Given the description of an element on the screen output the (x, y) to click on. 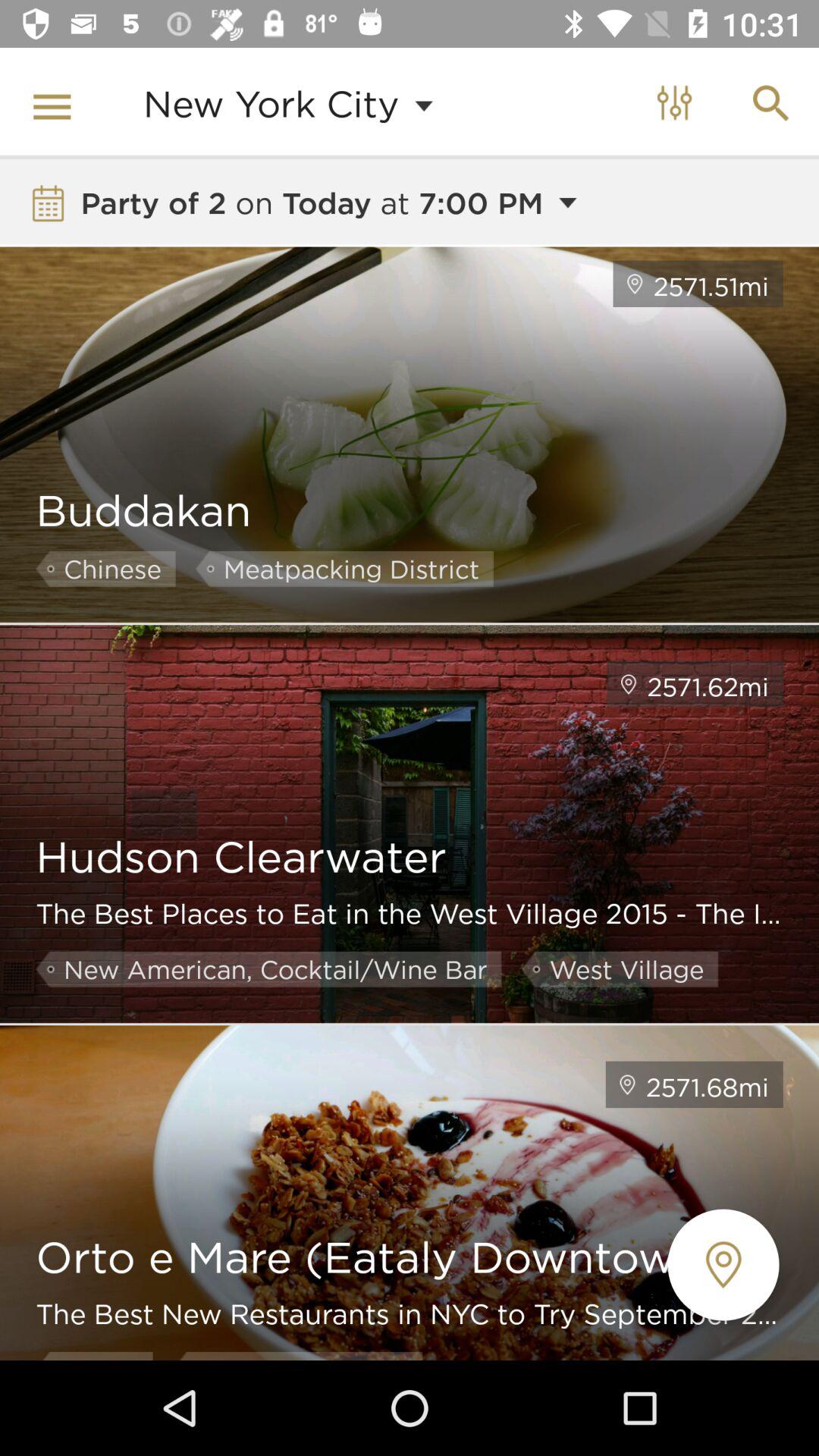
the location icon positioned at the bottom right corner (723, 1264)
click on the search icon (771, 103)
